Given the description of an element on the screen output the (x, y) to click on. 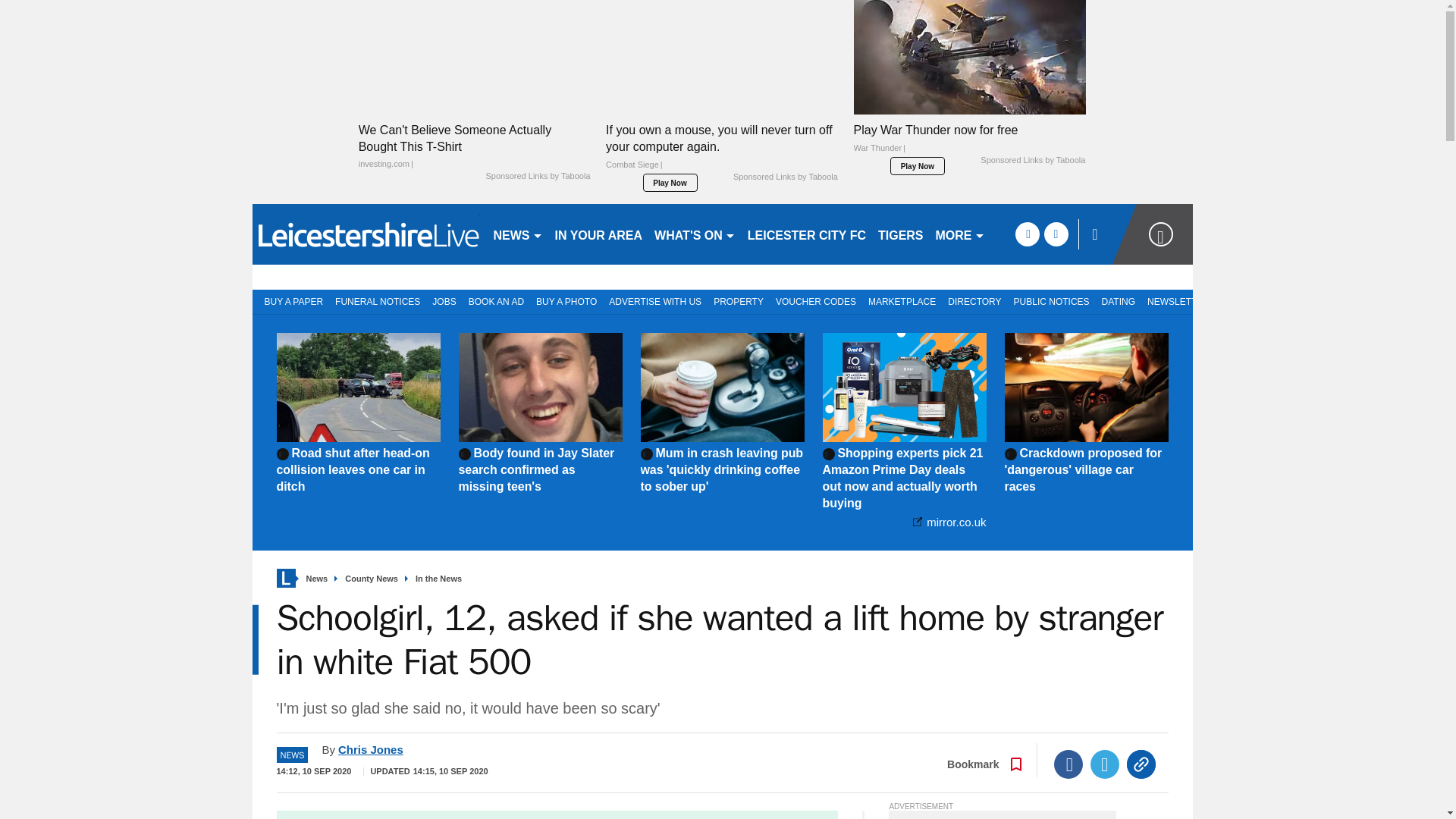
NEWS (517, 233)
Play Now (916, 166)
Sponsored Links by Taboola (1031, 160)
Play War Thunder now for free (969, 143)
Play Now (670, 182)
IN YOUR AREA (598, 233)
Facebook (1068, 764)
Sponsored Links by Taboola (536, 176)
We Can't Believe Someone Actually Bought This T-Shirt (474, 57)
leicestermercury (365, 233)
Sponsored Links by Taboola (785, 176)
We Can't Believe Someone Actually Bought This T-Shirt (474, 146)
Play War Thunder now for free (969, 57)
